Given the description of an element on the screen output the (x, y) to click on. 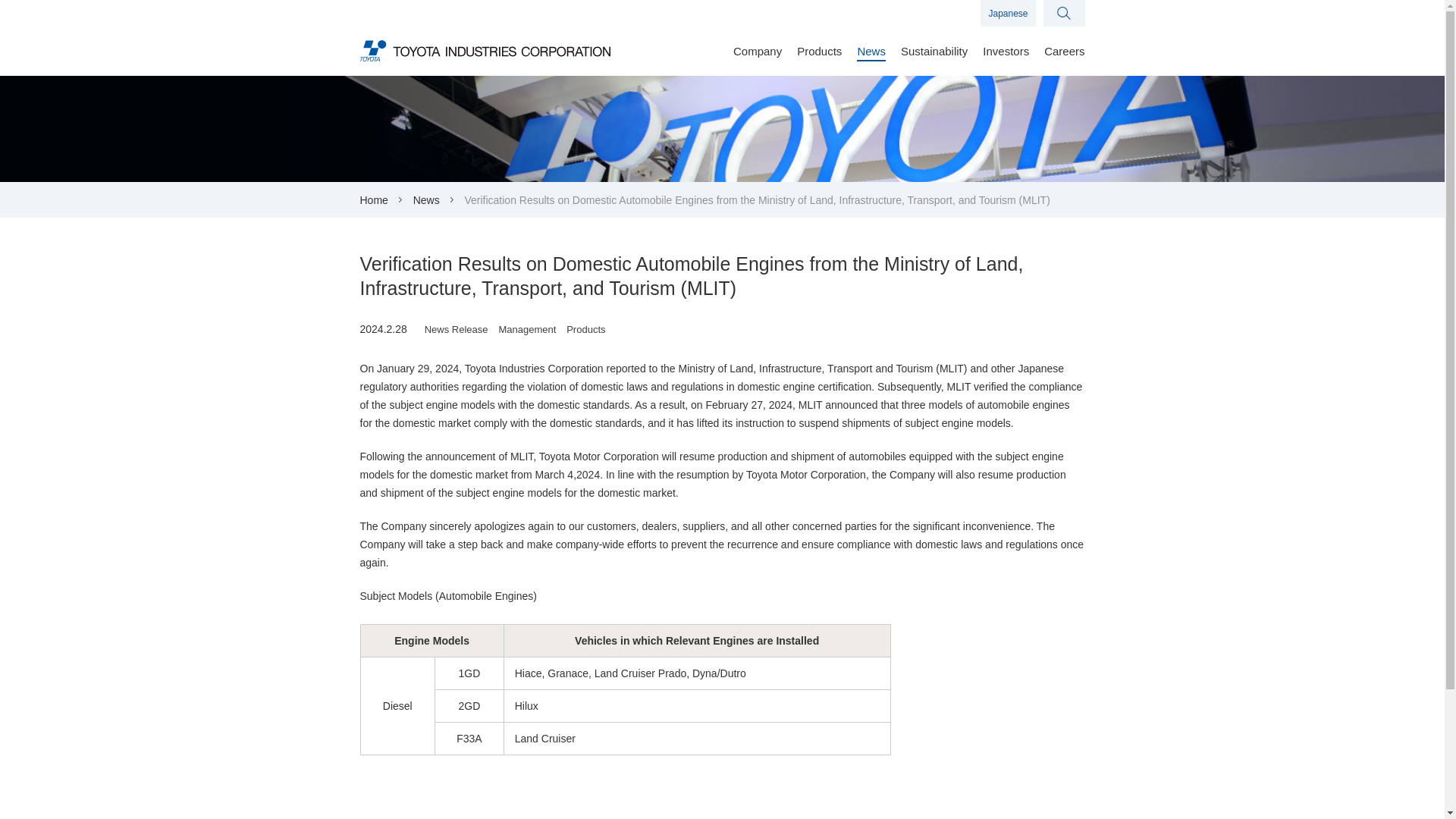
Company (757, 60)
Sustainability (934, 60)
News (871, 60)
Products (818, 60)
Japanese (1007, 13)
Investors (1005, 60)
Careers (1063, 60)
